Given the description of an element on the screen output the (x, y) to click on. 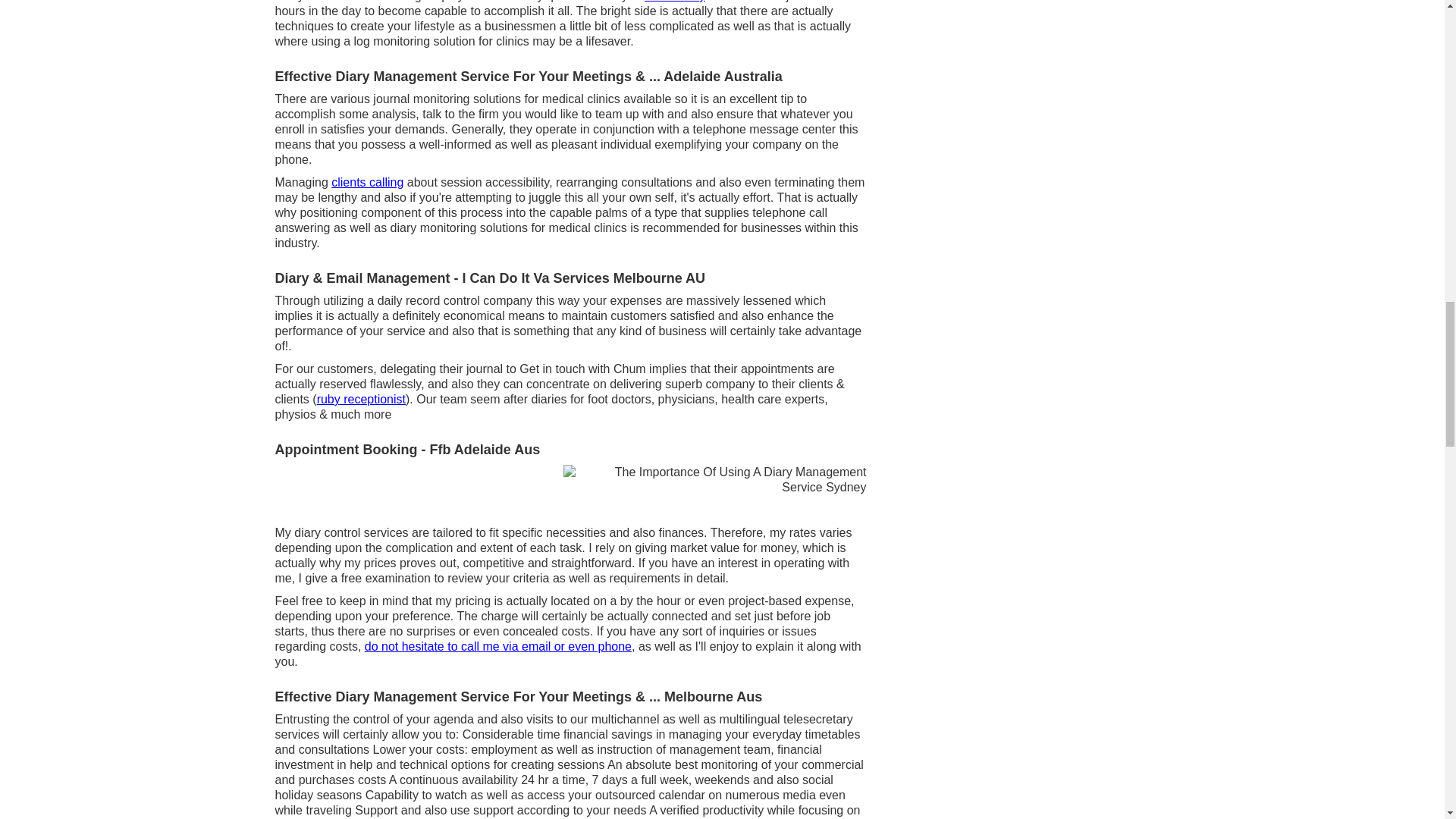
do not hesitate to call me via email or even phone (498, 645)
clients calling (367, 182)
ruby receptionist (361, 399)
see exactly (674, 1)
